Given the description of an element on the screen output the (x, y) to click on. 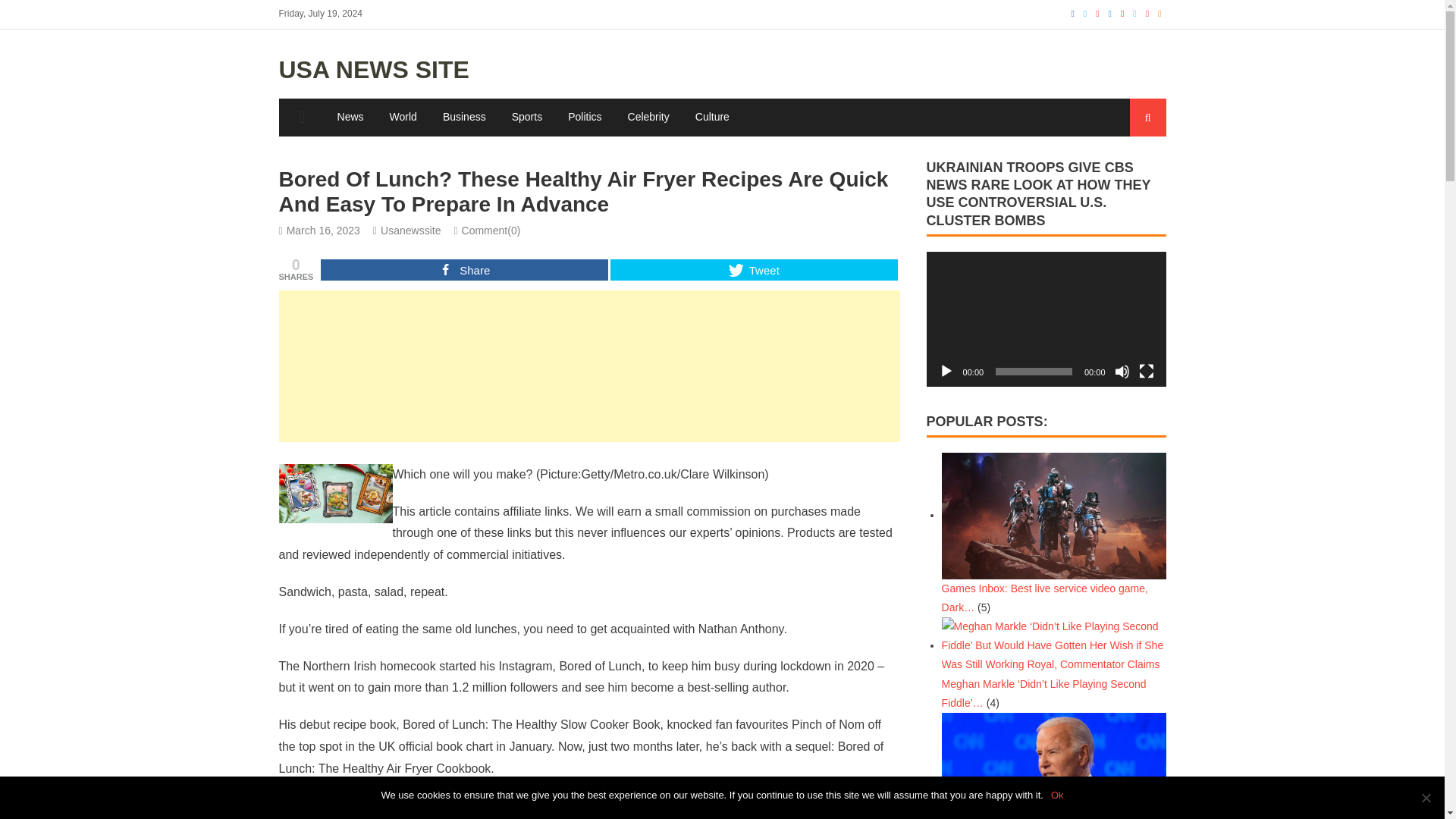
Play (946, 371)
USA NEWS SITE (373, 69)
Business (463, 116)
Culture (712, 116)
Tweet (754, 269)
Search (1133, 174)
Mute (1122, 371)
Celebrity (648, 116)
March 16, 2023 (322, 230)
Usanewssite (410, 230)
Advertisement (589, 366)
Fullscreen (1146, 371)
Politics (584, 116)
World (403, 116)
